Given the description of an element on the screen output the (x, y) to click on. 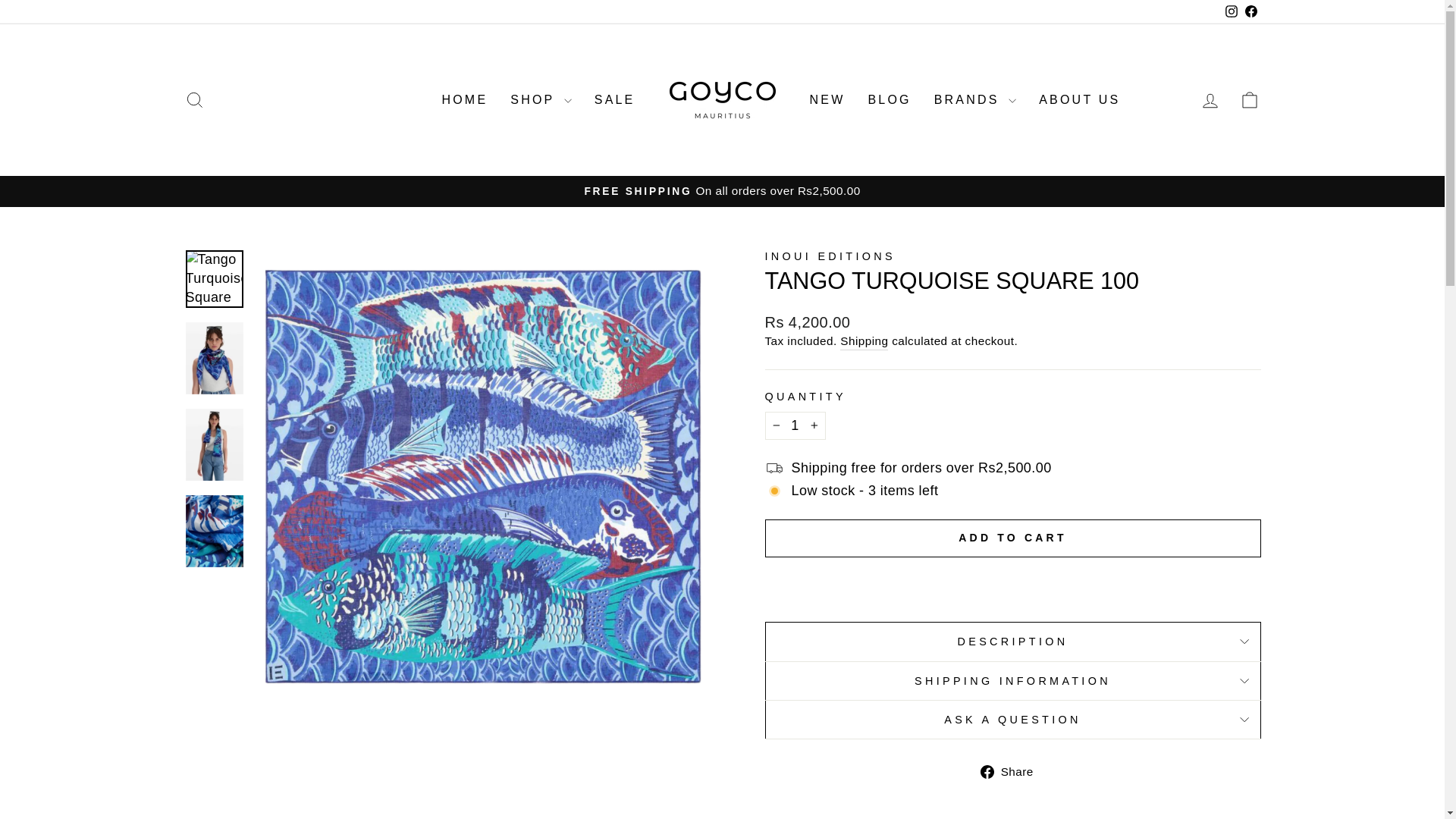
ICON-BAG-MINIMAL (1249, 99)
1 (794, 425)
ICON-SEARCH (194, 99)
instagram (1231, 10)
Share on Facebook (1012, 771)
ACCOUNT (1210, 100)
